Given the description of an element on the screen output the (x, y) to click on. 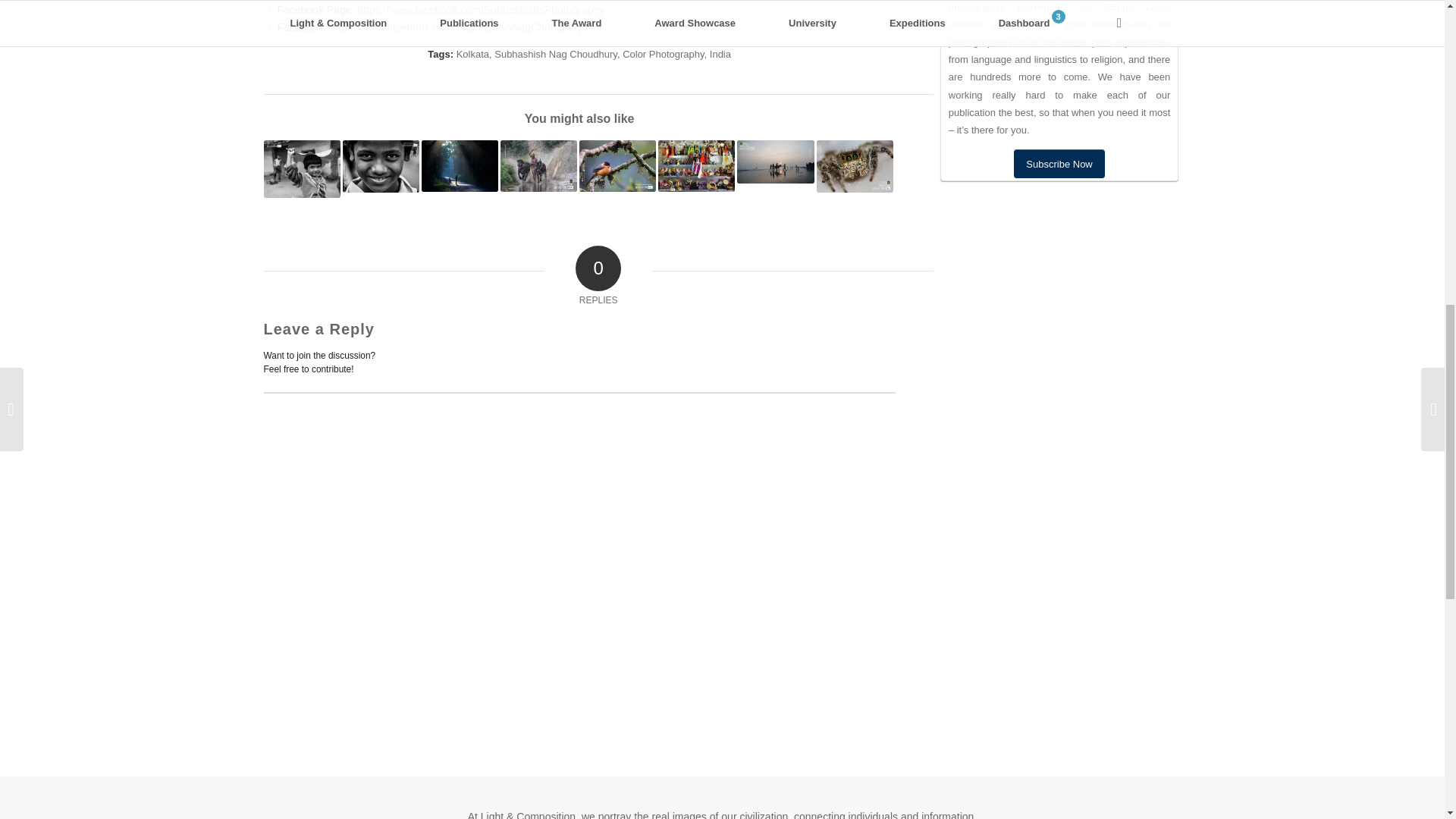
Subhashish Nag Choudhury (556, 53)
Color Photography (663, 53)
India (720, 53)
Jhummur Jhummur Aaki by Lavi Dhurve (301, 169)
Kolkata (473, 53)
